Given the description of an element on the screen output the (x, y) to click on. 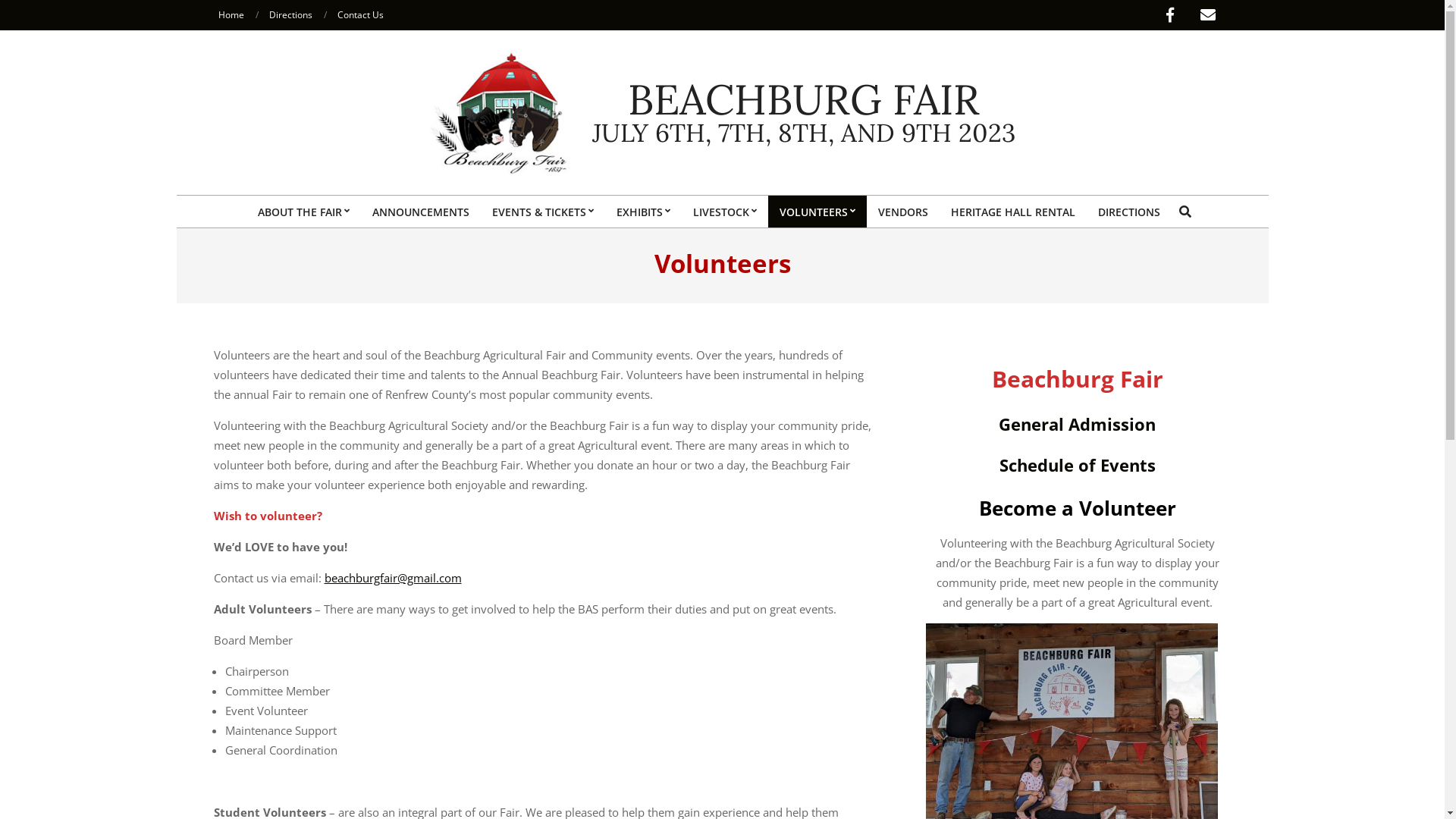
VENDORS Element type: text (902, 211)
LIVESTOCK Element type: text (723, 211)
HERITAGE HALL RENTAL Element type: text (1011, 211)
Home Element type: text (231, 14)
Directions Element type: text (289, 14)
VOLUNTEERS Element type: text (816, 211)
Schedule of Events Element type: text (1077, 464)
Search Element type: text (18, 8)
Contact Us Element type: text (359, 14)
ANNOUNCEMENTS Element type: text (420, 211)
DIRECTIONS Element type: text (1127, 211)
beachburgfair@gmail.com Element type: text (392, 577)
ABOUT THE FAIR Element type: text (302, 211)
BEACHBURG FAIR
JULY 6TH, 7TH, 8TH, AND 9TH 2023 Element type: text (803, 111)
EVENTS & TICKETS Element type: text (542, 211)
EXHIBITS Element type: text (643, 211)
General Admission Element type: text (1076, 423)
